Given the description of an element on the screen output the (x, y) to click on. 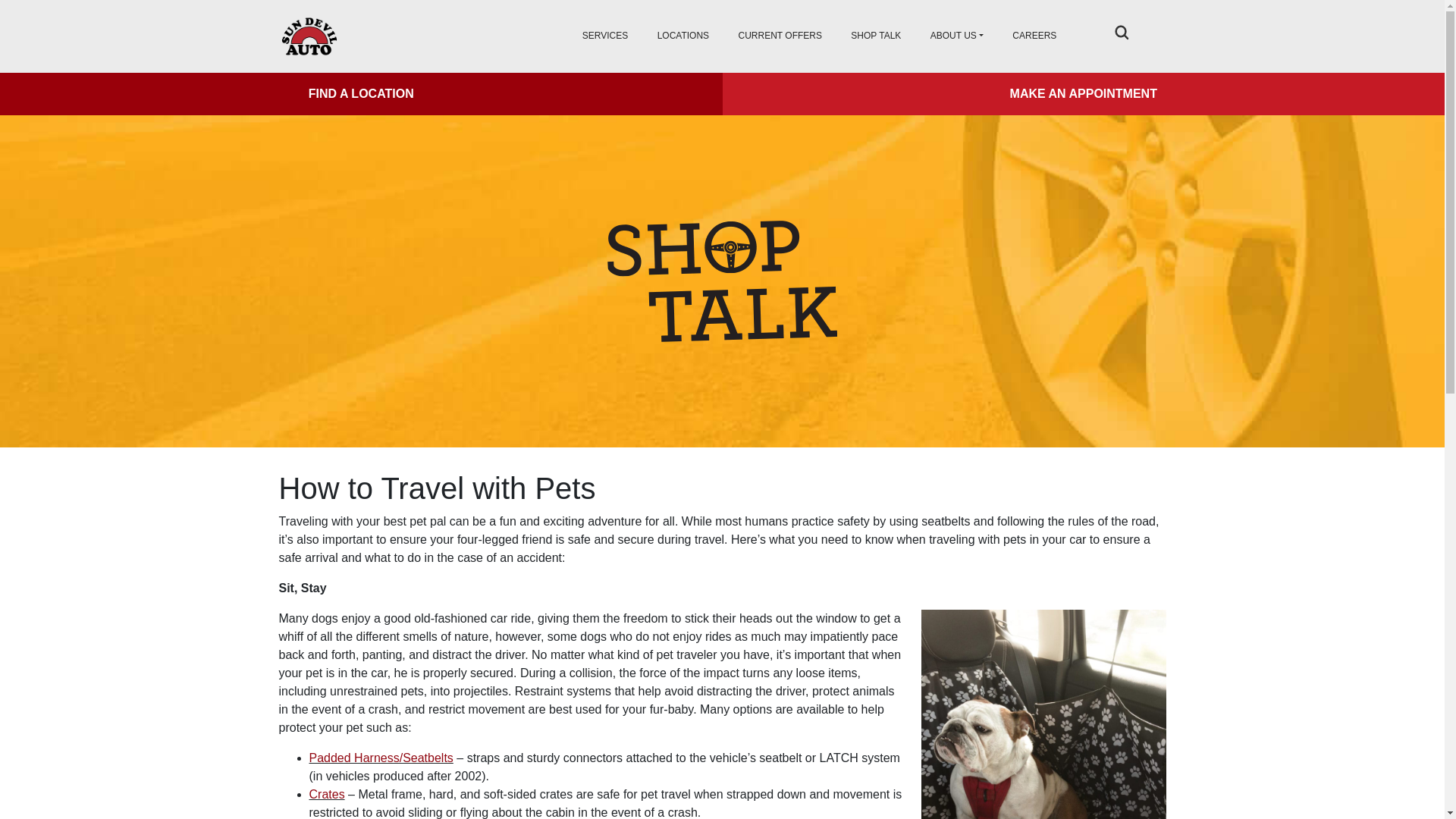
SERVICES (604, 36)
SHOP TALK (875, 36)
FIND A LOCATION (361, 94)
ABOUT US (957, 36)
Services (604, 36)
Careers (1034, 36)
About Us (957, 36)
CURRENT OFFERS (780, 36)
MAKE AN APPOINTMENT (1083, 94)
LOCATIONS (683, 36)
Crates (326, 793)
Current Offers (780, 36)
Shop Talk (875, 36)
Locations (683, 36)
CAREERS (1034, 36)
